Given the description of an element on the screen output the (x, y) to click on. 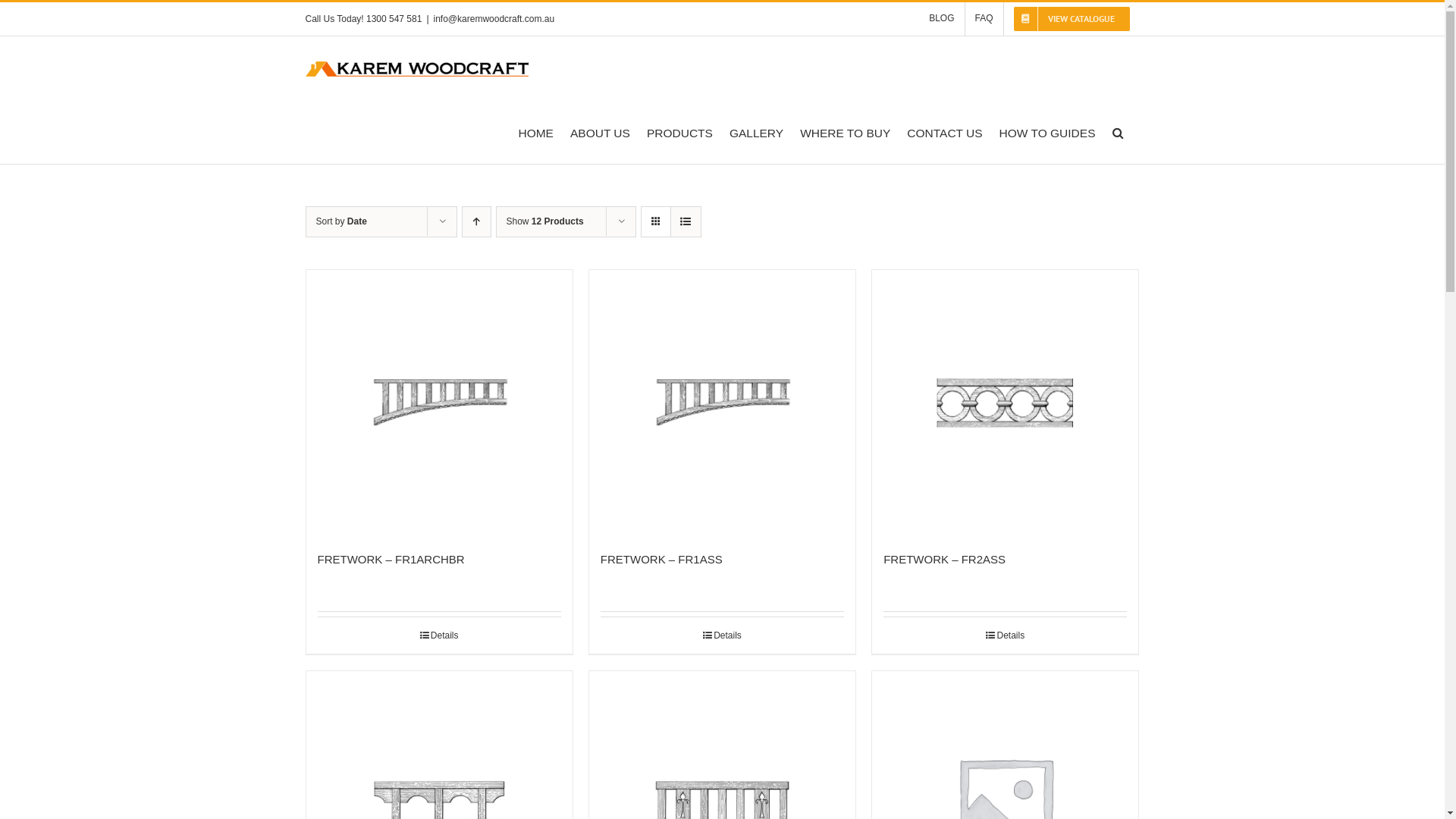
FAQ Element type: text (983, 18)
Show 12 Products Element type: text (544, 221)
PRODUCTS Element type: text (679, 131)
Details Element type: text (438, 635)
HOW TO GUIDES Element type: text (1047, 131)
Sort by Date Element type: text (340, 221)
Details Element type: text (722, 635)
ABOUT US Element type: text (600, 131)
BLOG Element type: text (941, 18)
1300 547 581 Element type: text (393, 18)
GALLERY Element type: text (756, 131)
WHERE TO BUY Element type: text (845, 131)
Search Element type: hover (1116, 131)
HOME Element type: text (535, 131)
info@karemwoodcraft.com.au Element type: text (494, 18)
Details Element type: text (1004, 635)
VIEW CATALOGUE Element type: text (1071, 18)
CONTACT US Element type: text (944, 131)
